Given the description of an element on the screen output the (x, y) to click on. 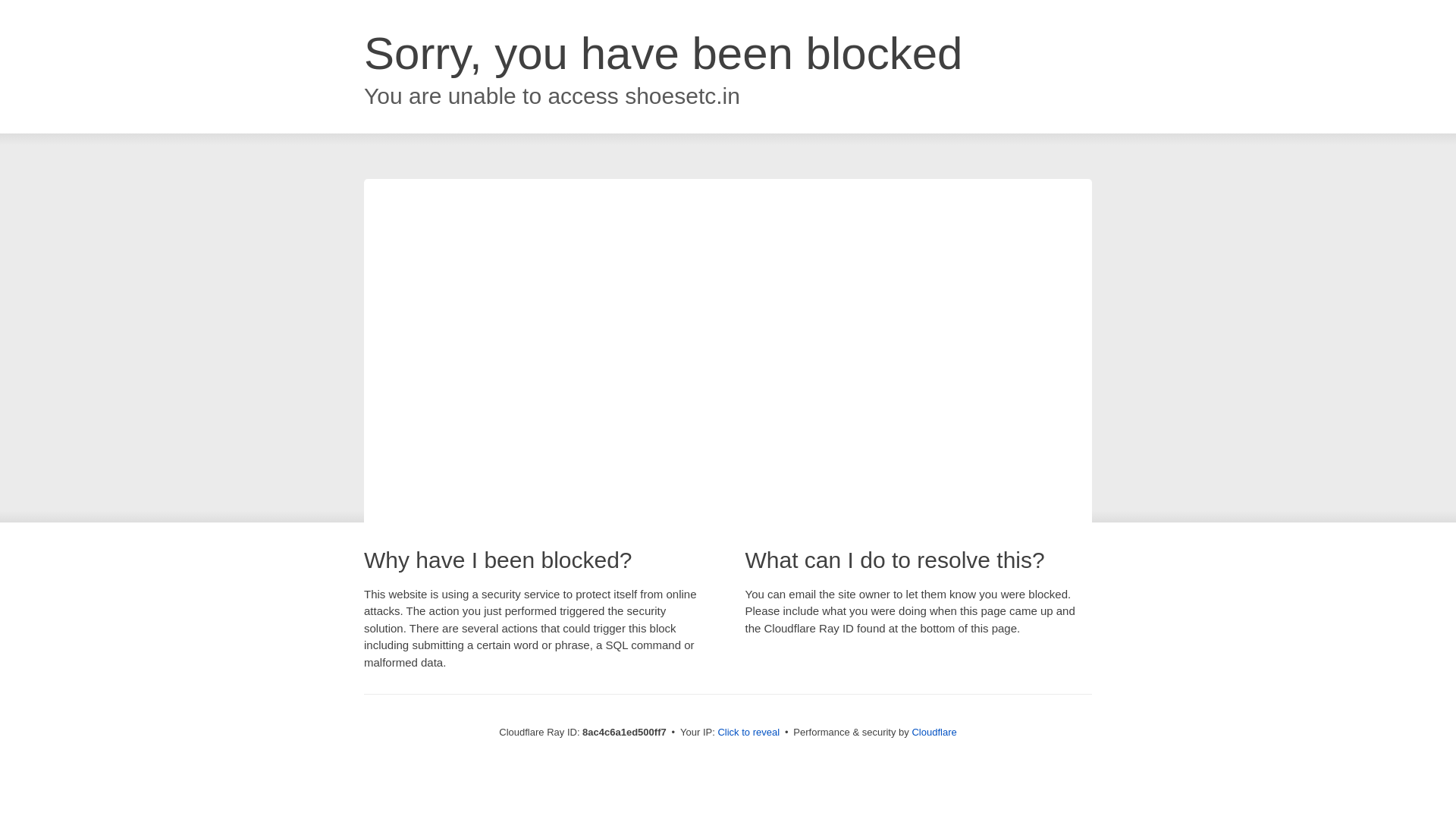
Click to reveal (747, 732)
Cloudflare (933, 731)
